Given the description of an element on the screen output the (x, y) to click on. 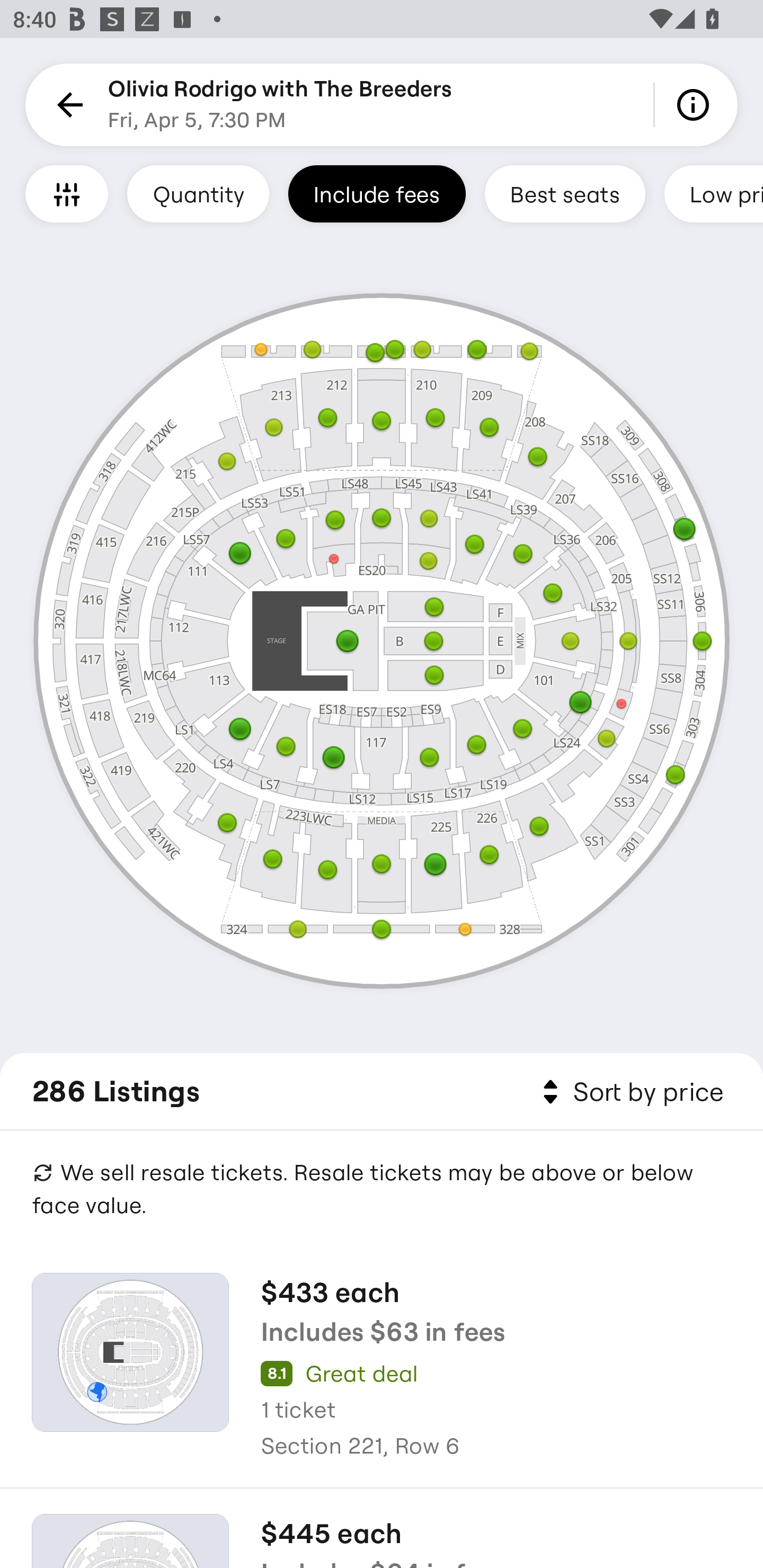
Back (66, 104)
Info (695, 104)
Filters and Accessible Seating (66, 193)
Quantity (198, 193)
Include fees (376, 193)
Best seats (564, 193)
Sort by price (629, 1091)
